Given the description of an element on the screen output the (x, y) to click on. 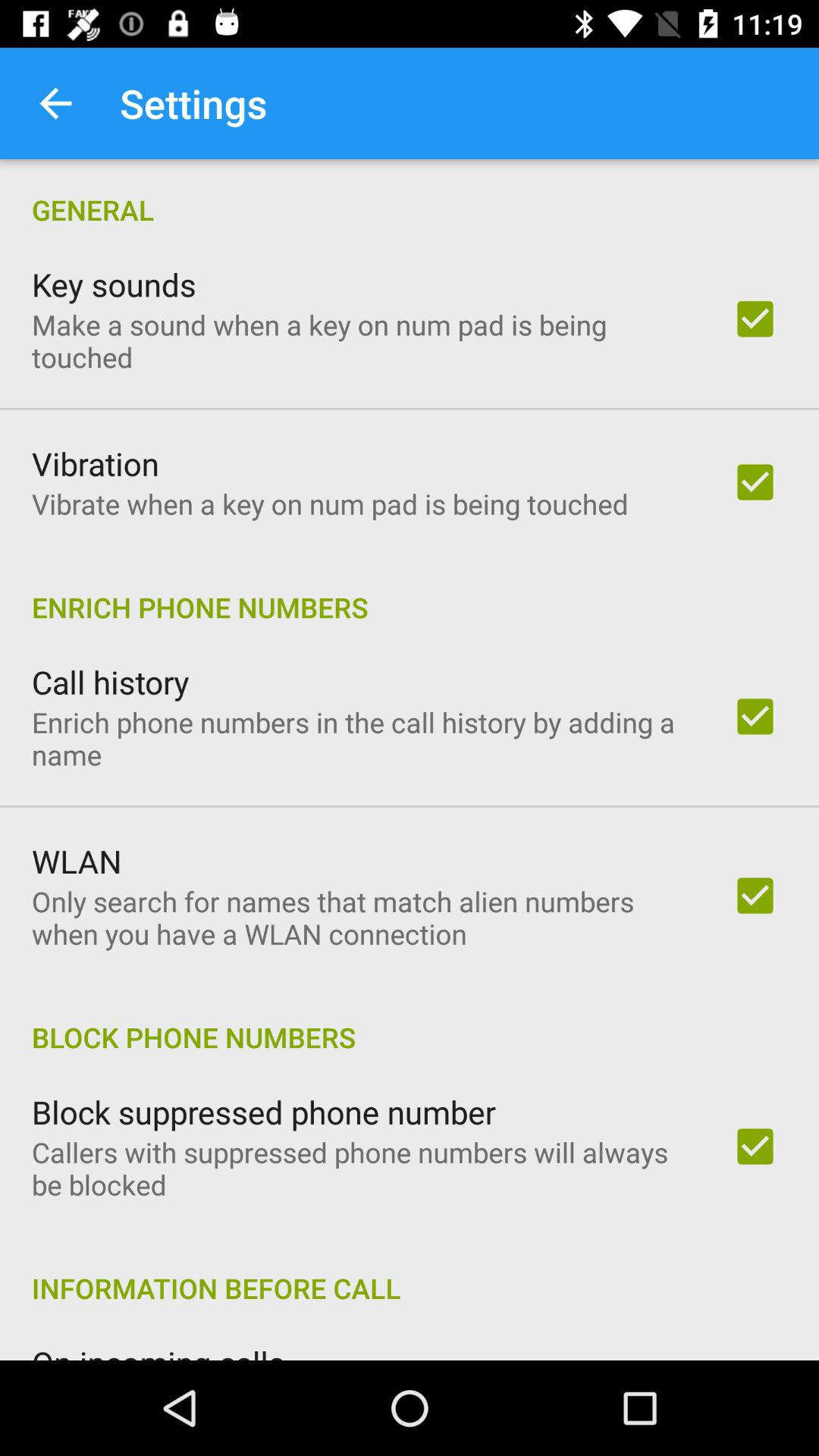
press icon below wlan icon (361, 917)
